Given the description of an element on the screen output the (x, y) to click on. 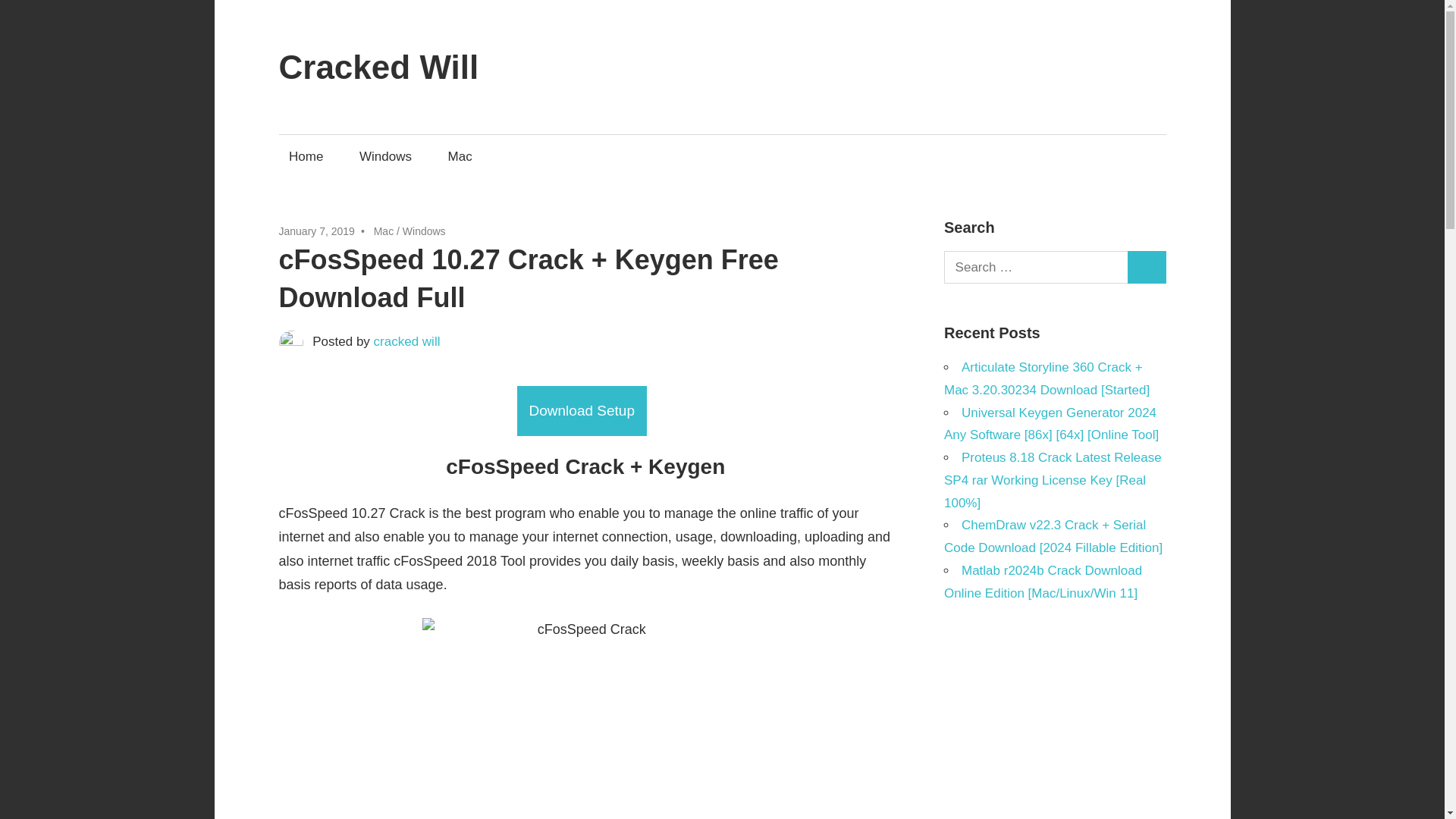
Download Setup (581, 409)
Home (306, 156)
Download Setup (584, 410)
cracked will (407, 341)
Search for: (1035, 266)
Windows (385, 156)
Mac (383, 231)
Cracked Will (379, 66)
January 7, 2019 (317, 231)
2:36 pm (317, 231)
Windows (424, 231)
Mac (459, 156)
View all posts by cracked will (407, 341)
